Given the description of an element on the screen output the (x, y) to click on. 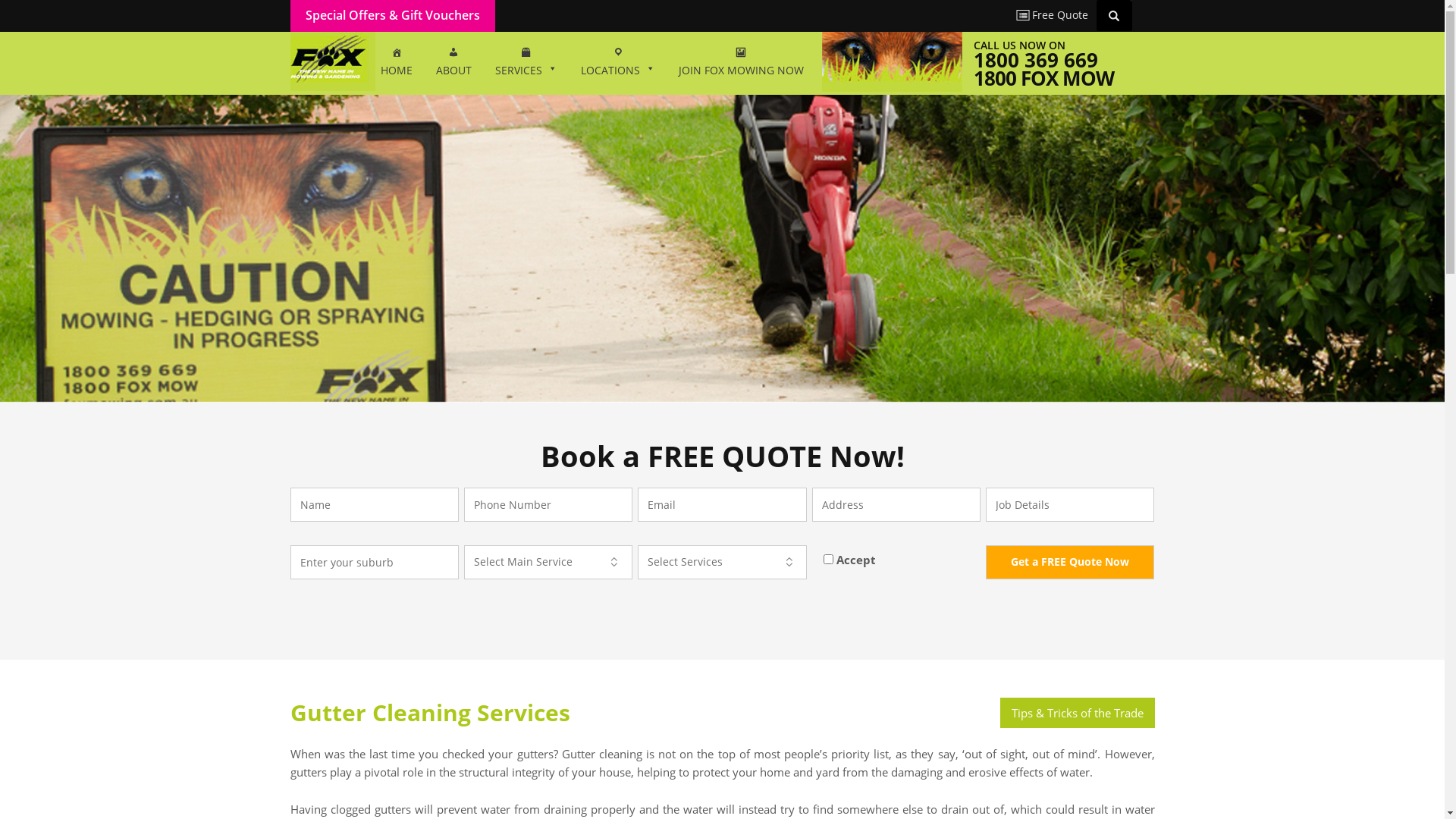
1800 369 669 Element type: text (1035, 59)
Fox Logo Element type: hover (331, 59)
HOME Element type: text (395, 62)
ABOUT Element type: text (453, 62)
Free Quote Element type: text (1053, 14)
Tips & Tricks of the Trade Element type: text (1076, 712)
Rechercher Element type: text (1116, 15)
Special Offers & Gift Vouchers Element type: text (391, 14)
Get a FREE Quote Now Element type: text (1069, 562)
LOCATIONS Element type: text (616, 62)
JOIN FOX MOWING NOW Element type: text (741, 62)
1800 FOX MOW Element type: text (1043, 77)
SERVICES Element type: text (525, 62)
